Given the description of an element on the screen output the (x, y) to click on. 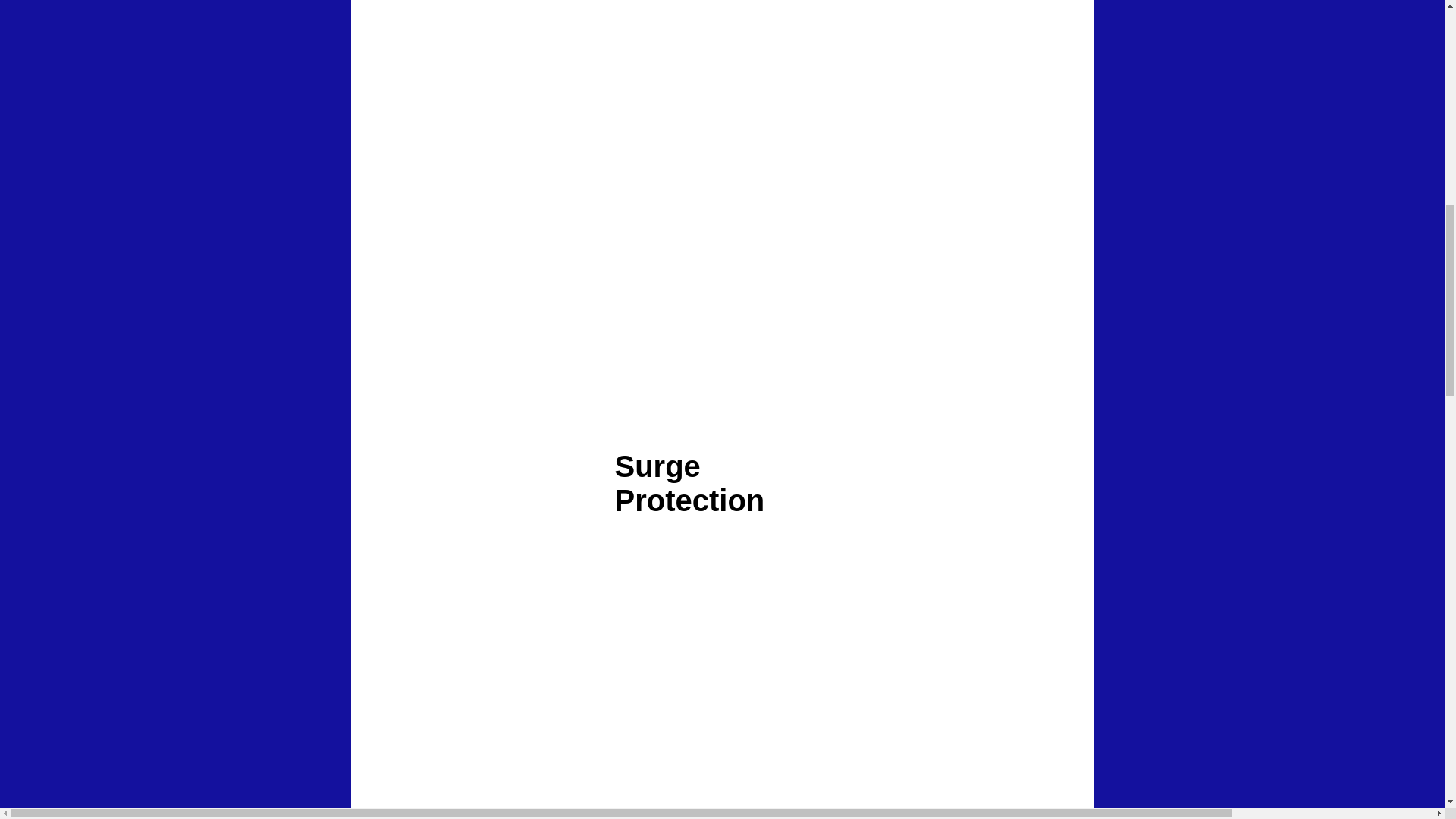
External YouTube (527, 68)
External YouTube (895, 70)
External YouTube (532, 649)
External YouTube (908, 649)
External YouTube (721, 270)
